Given the description of an element on the screen output the (x, y) to click on. 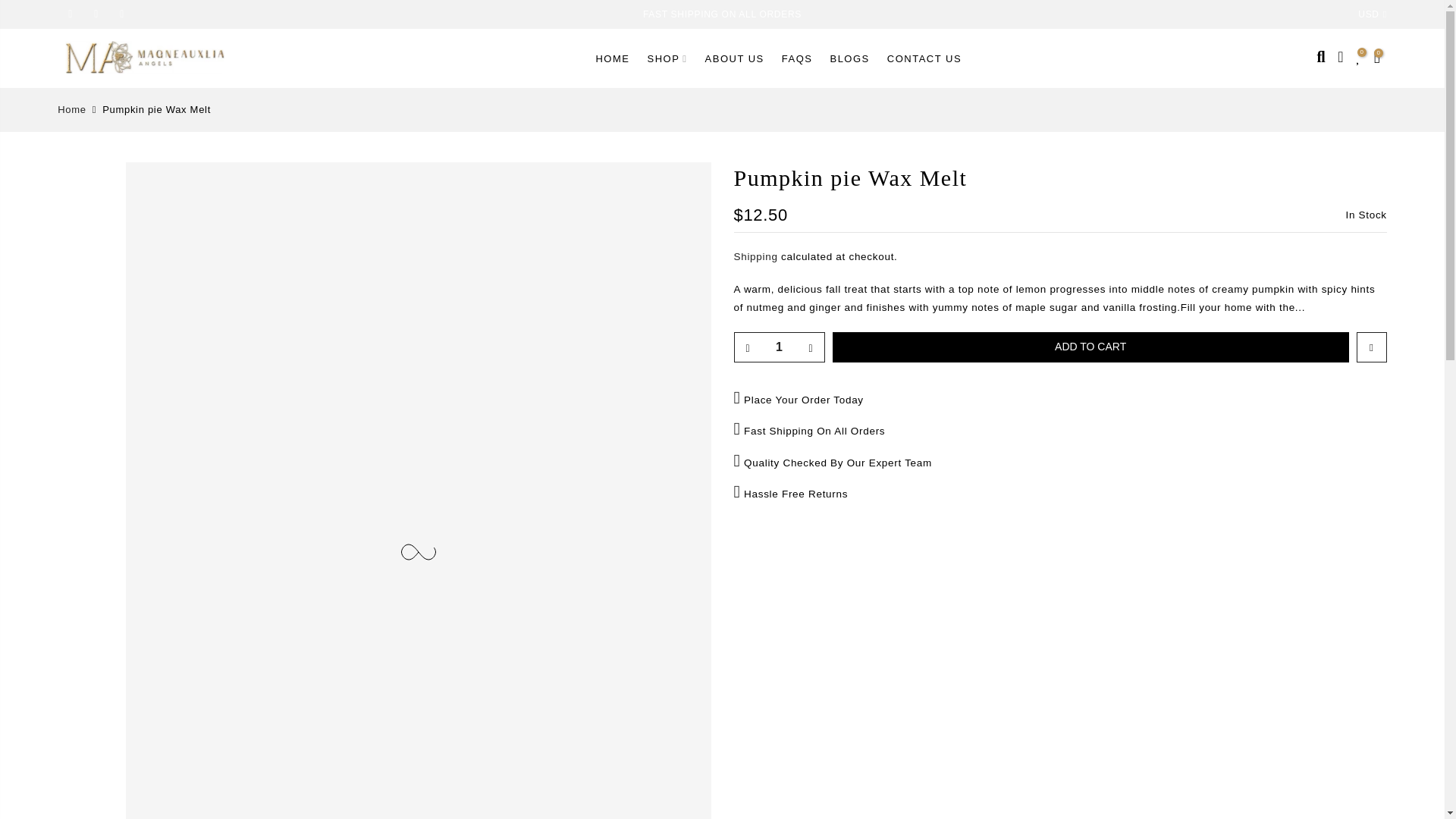
Home (71, 110)
0 (1358, 58)
Shipping (755, 256)
ABOUT US (734, 58)
1 (778, 346)
SHOP (667, 58)
FAQS (797, 58)
ADD TO CART (1090, 347)
BLOGS (849, 58)
CONTACT US (923, 58)
